Given the description of an element on the screen output the (x, y) to click on. 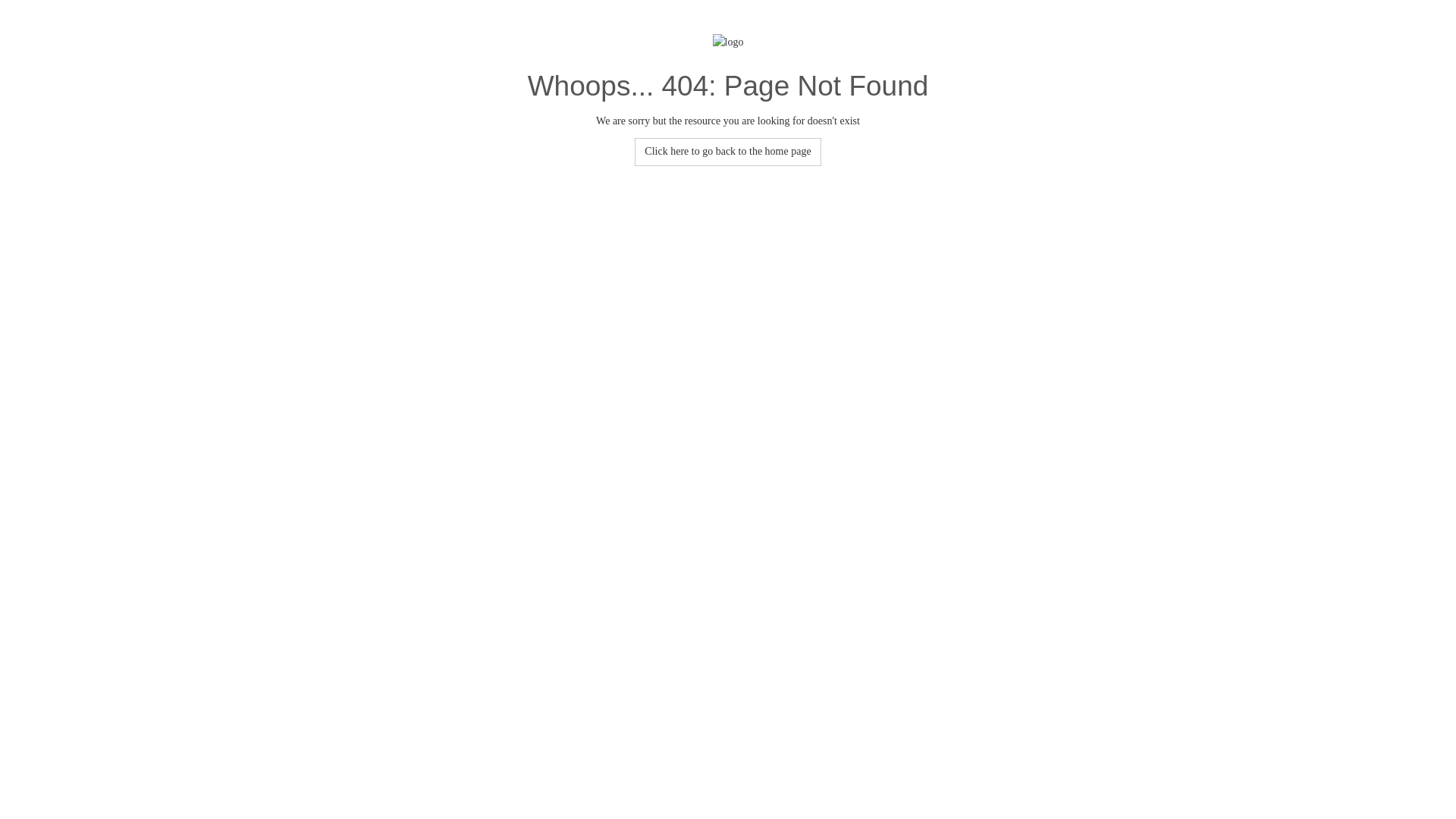
Click here to go back to the home page Element type: text (727, 151)
